Given the description of an element on the screen output the (x, y) to click on. 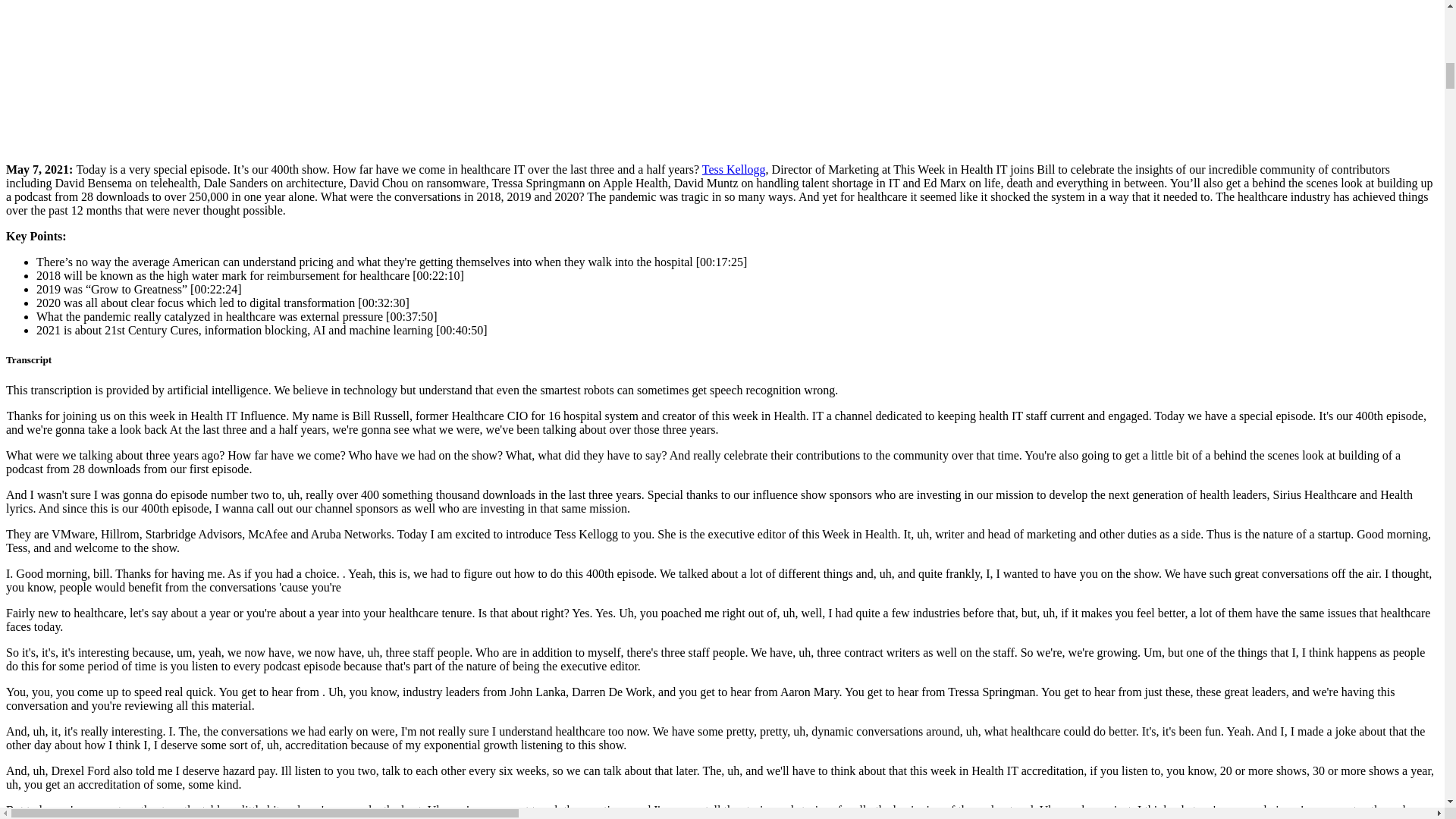
00:22:10 (438, 275)
00:17:25 (721, 261)
00:32:30 (384, 302)
00:22:24 (215, 288)
Tess Kellogg (733, 169)
00:40:50 (461, 329)
00:37:50 (411, 316)
